Given the description of an element on the screen output the (x, y) to click on. 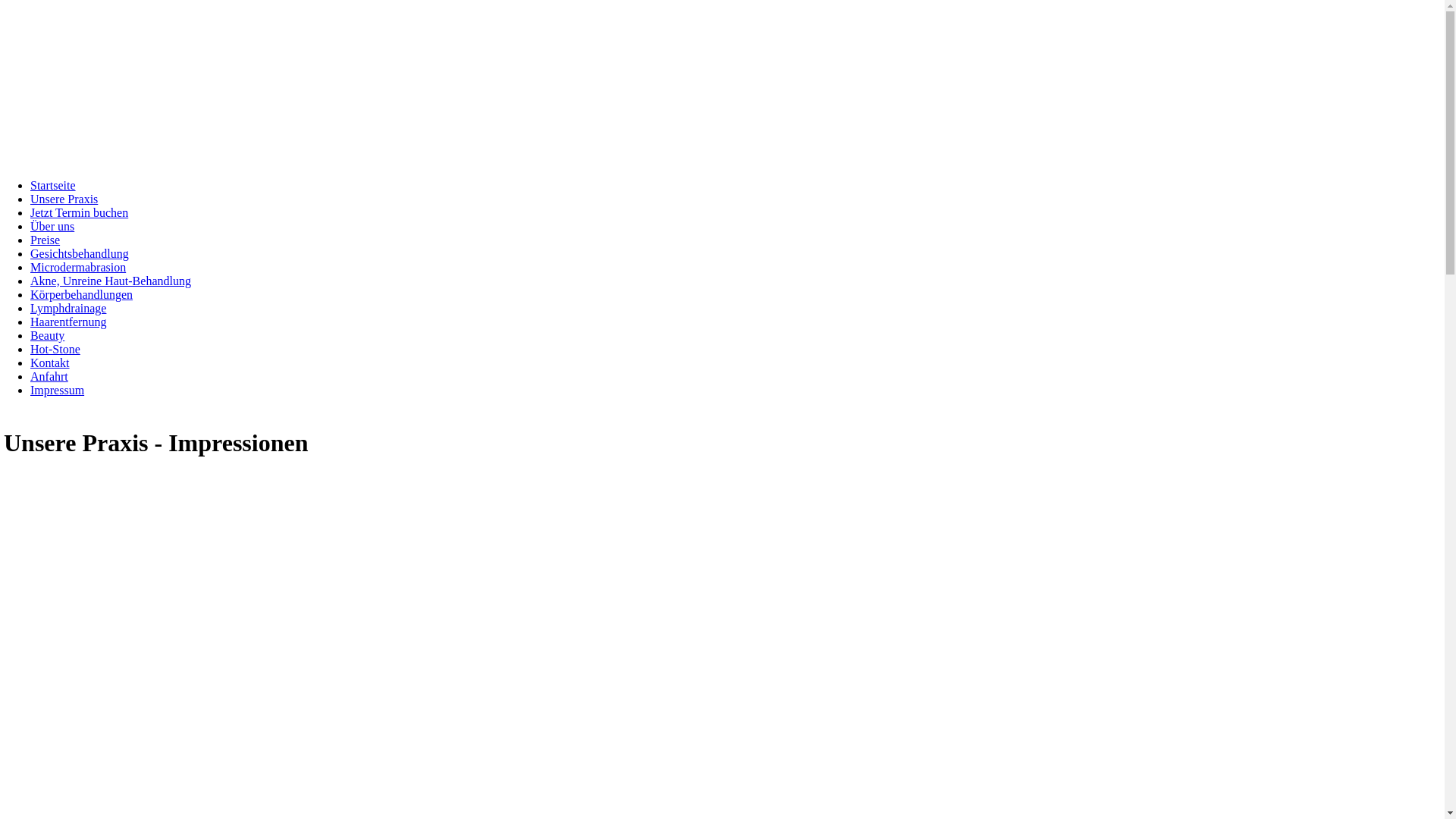
Lymphdrainage Element type: text (68, 307)
Preise Element type: text (44, 239)
Hot-Stone Element type: text (55, 348)
Haarentfernung Element type: text (68, 321)
Unsere Praxis Element type: text (63, 198)
Kontakt Element type: text (49, 362)
Anfahrt Element type: text (49, 376)
Akne, Unreine Haut-Behandlung Element type: text (110, 280)
Gesichtsbehandlung Element type: text (79, 253)
Startseite Element type: text (52, 184)
Jetzt Termin buchen Element type: text (79, 212)
Microdermabrasion Element type: text (77, 266)
Beauty Element type: text (47, 335)
Impressum Element type: text (57, 389)
